Given the description of an element on the screen output the (x, y) to click on. 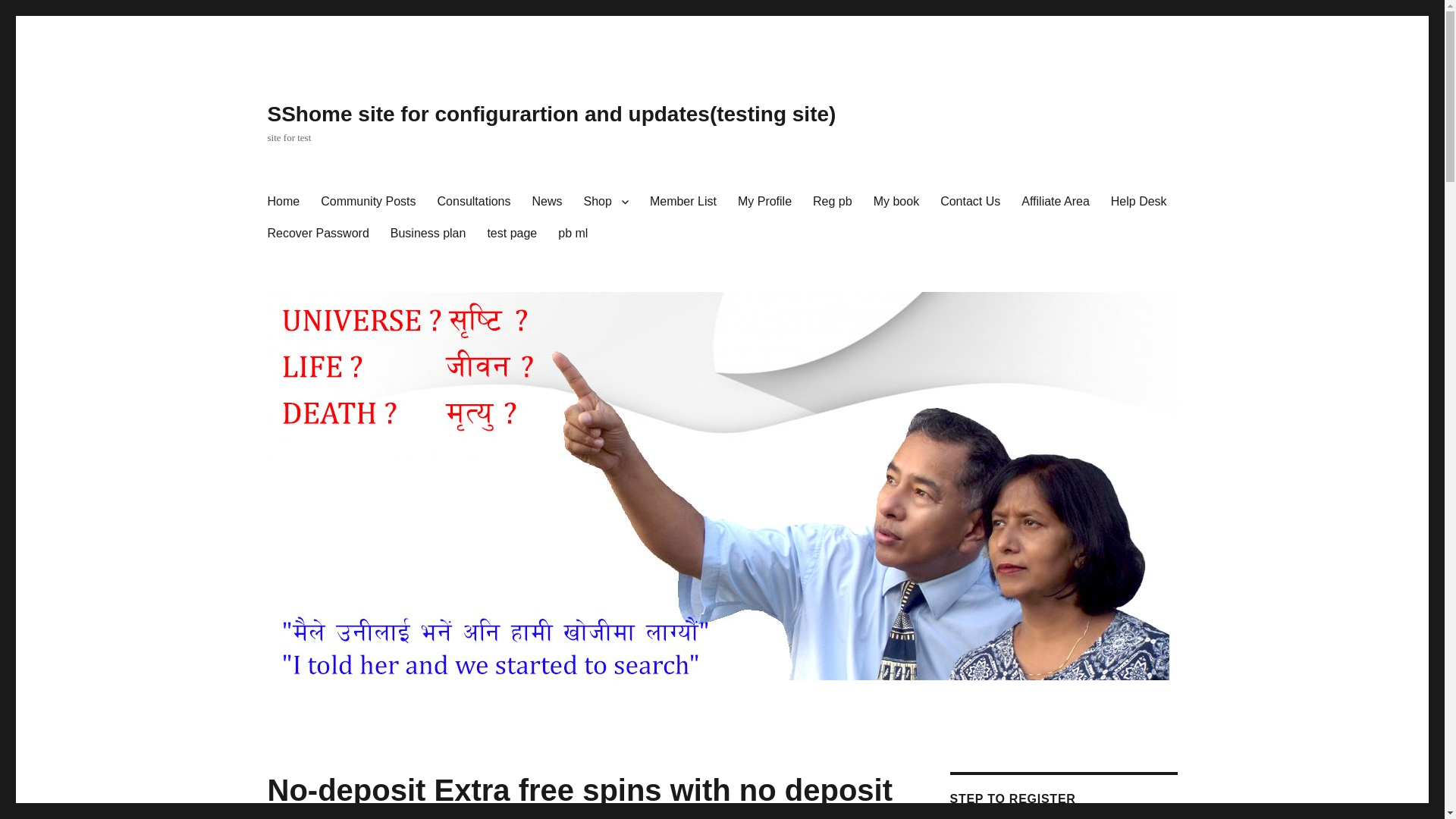
Contact Us (970, 201)
Affiliate Area (1055, 201)
Help Desk (1138, 201)
Community Posts (368, 201)
Shop (606, 201)
test page (511, 233)
Home (283, 201)
My Profile (764, 201)
pb ml (572, 233)
Member List (682, 201)
Consultations (473, 201)
Business plan (428, 233)
My book (896, 201)
News (547, 201)
Reg pb (832, 201)
